Given the description of an element on the screen output the (x, y) to click on. 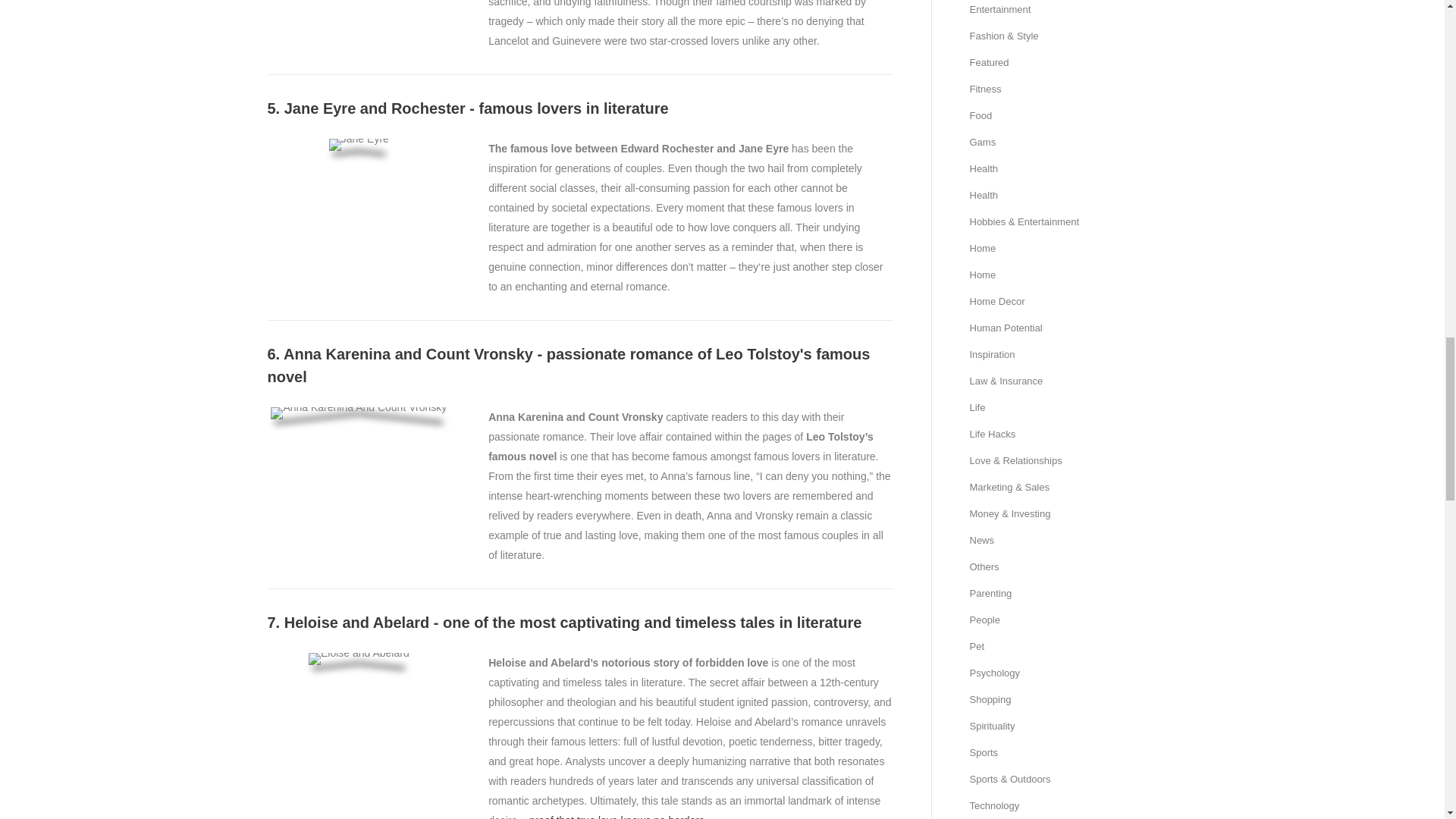
Anna Karenina And Count Vronsky (358, 413)
Eloise and Abelard (358, 658)
Jane Eyre (358, 144)
